Given the description of an element on the screen output the (x, y) to click on. 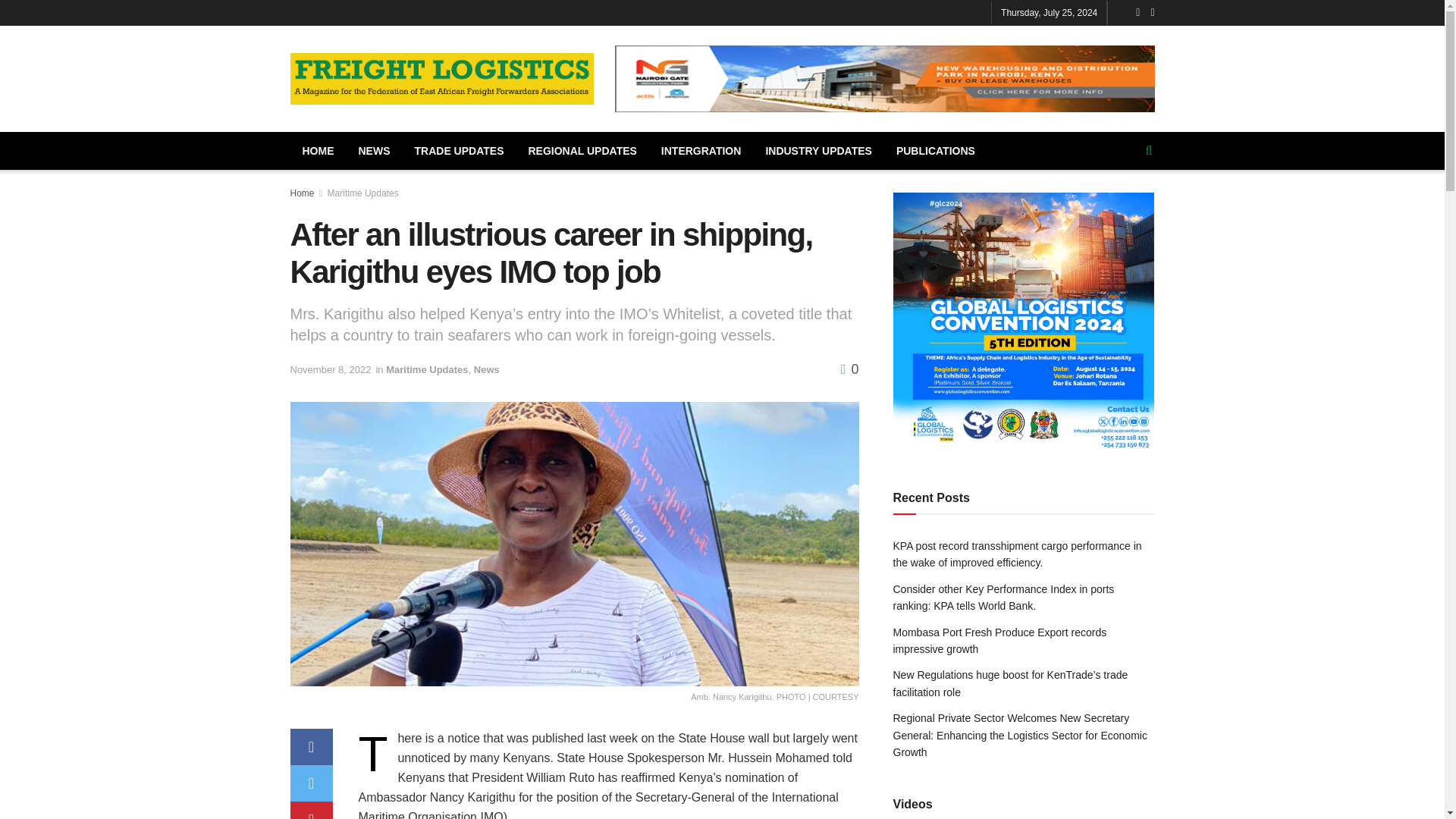
Home (301, 193)
HOME (317, 150)
TRADE UPDATES (458, 150)
News (486, 369)
INDUSTRY UPDATES (817, 150)
PUBLICATIONS (935, 150)
INTERGRATION (701, 150)
REGIONAL UPDATES (581, 150)
Maritime Updates (426, 369)
0 (850, 368)
November 8, 2022 (330, 369)
NEWS (373, 150)
Maritime Updates (362, 193)
